Given the description of an element on the screen output the (x, y) to click on. 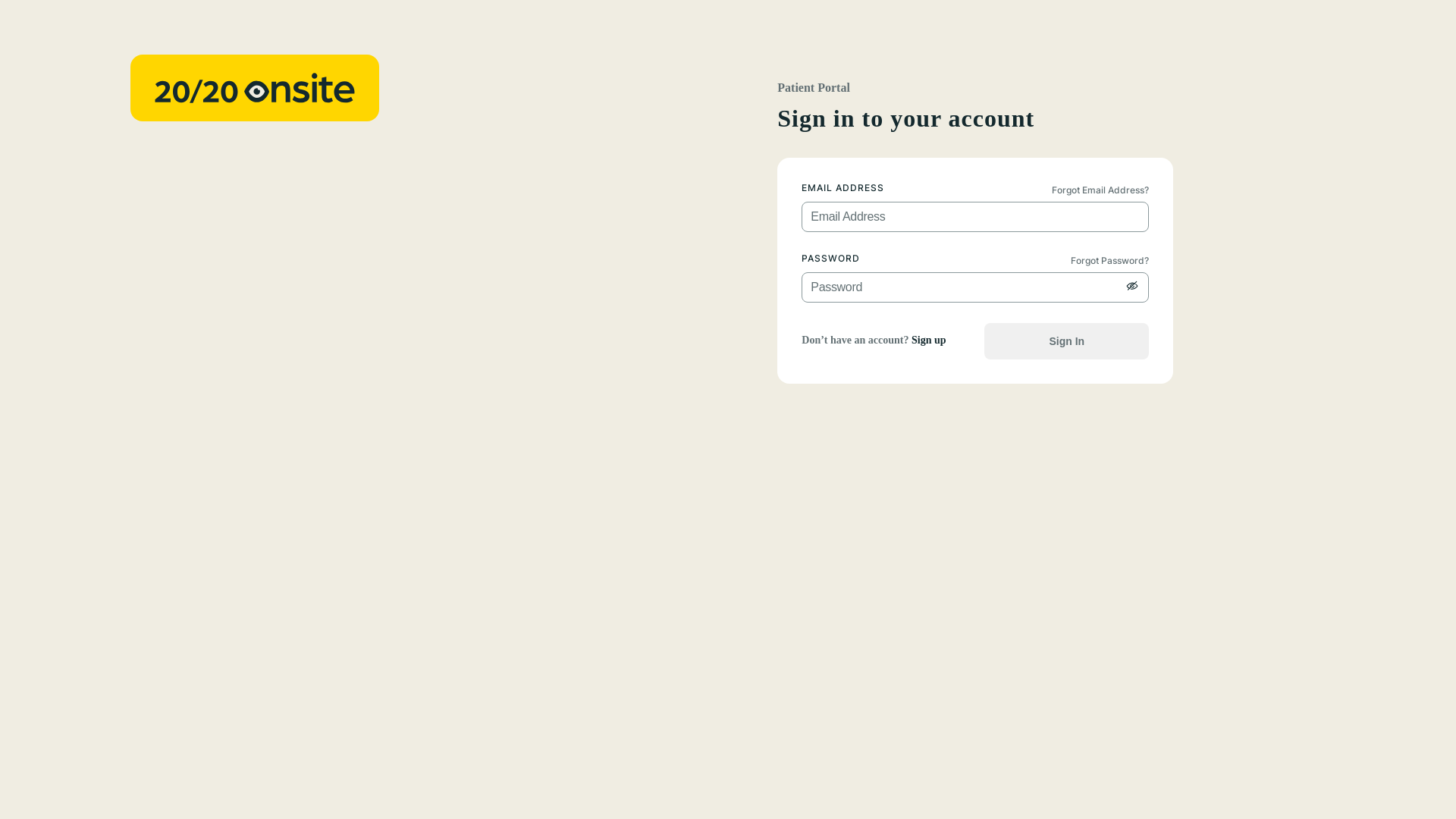
Sign up Element type: text (928, 339)
Sign In Element type: text (1066, 341)
Forgot Email Address? Element type: text (1106, 189)
Forgot Password? Element type: text (1115, 259)
